Given the description of an element on the screen output the (x, y) to click on. 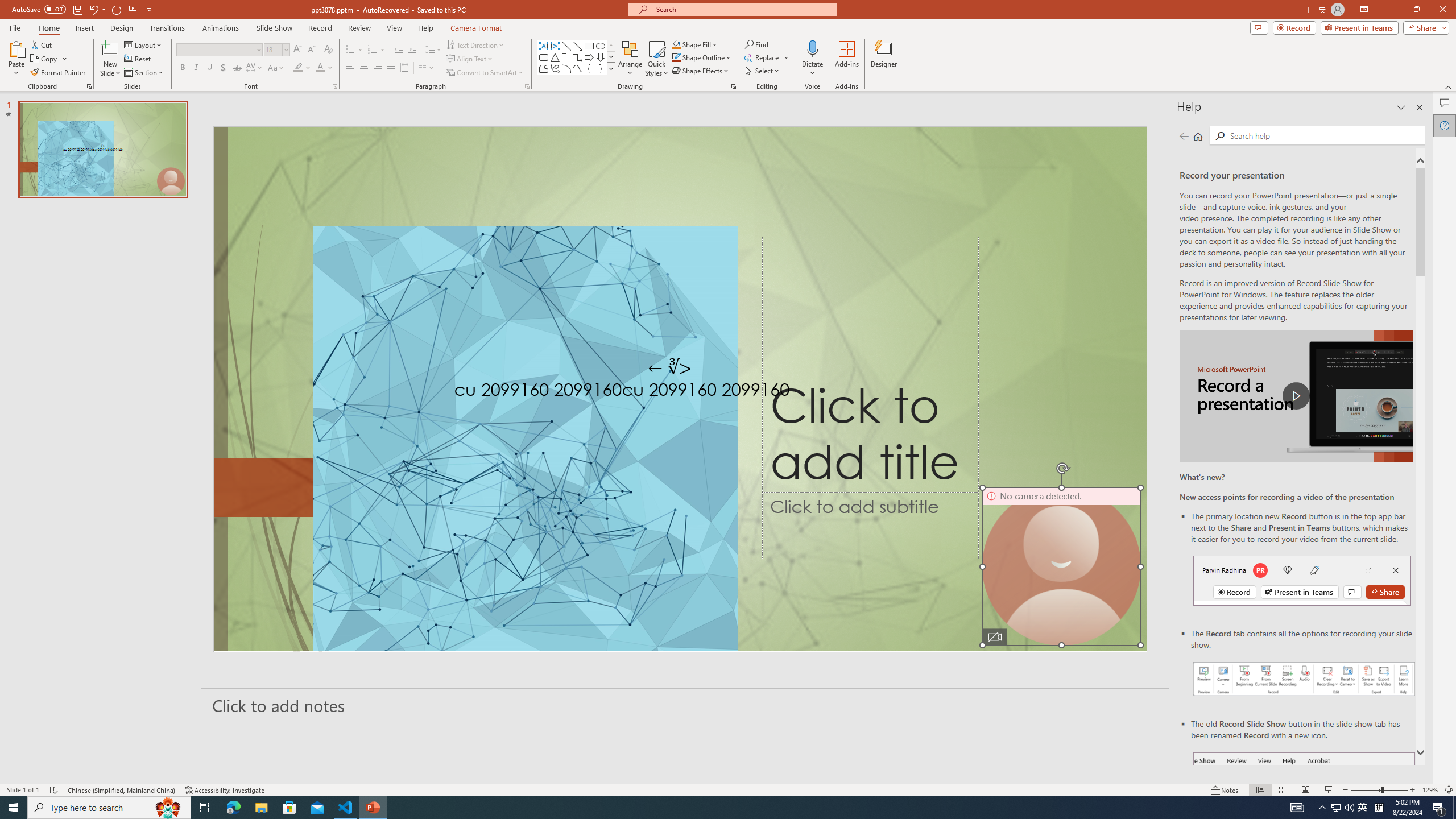
Record button in top bar (1301, 580)
Record your presentations screenshot one (1304, 678)
